Given the description of an element on the screen output the (x, y) to click on. 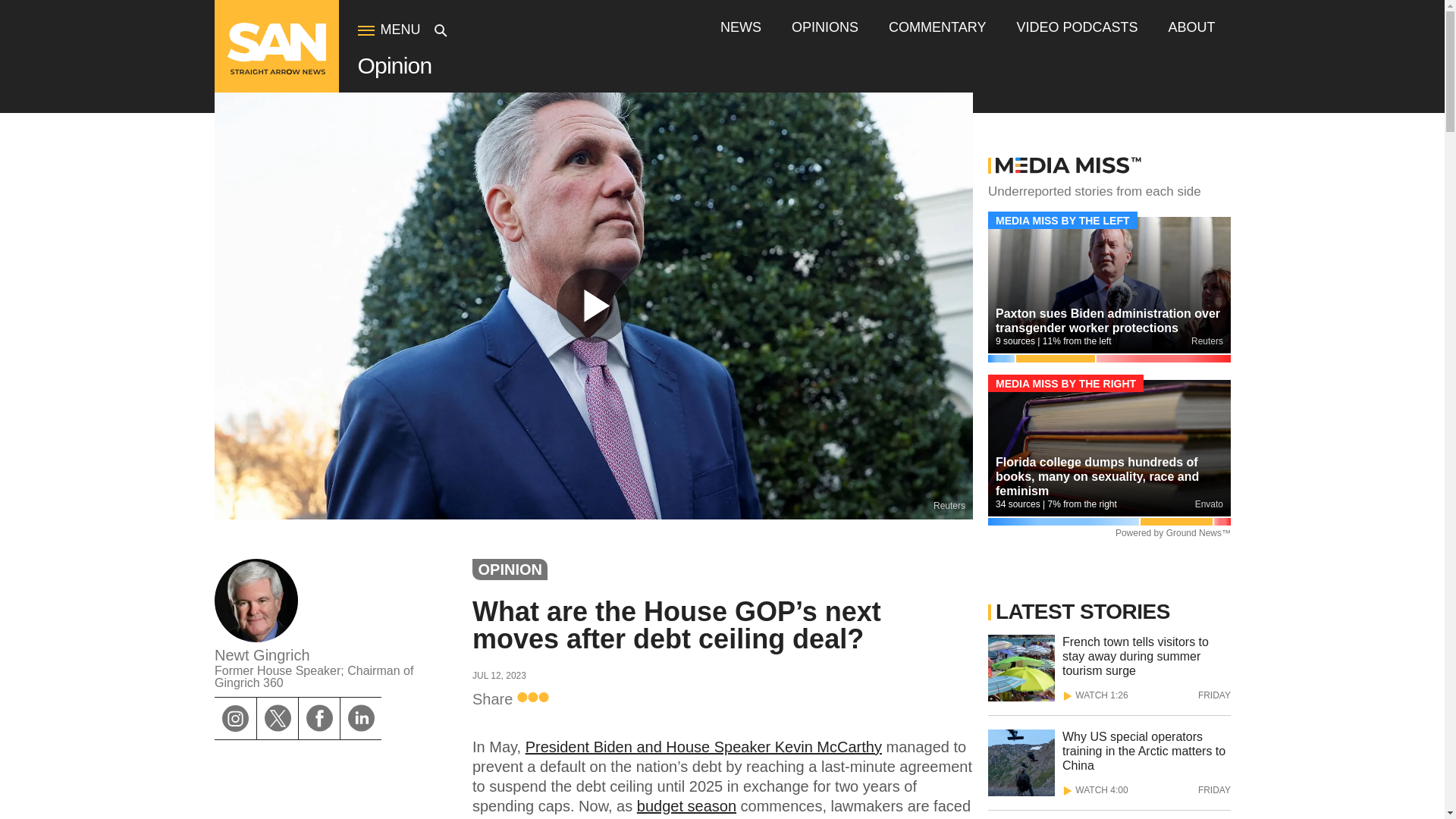
NEWS (740, 27)
Play Video (593, 305)
COMMENTARY (936, 27)
VIDEO PODCASTS (1076, 27)
ABOUT (1190, 27)
OPINIONS (825, 27)
Home (276, 70)
